Given the description of an element on the screen output the (x, y) to click on. 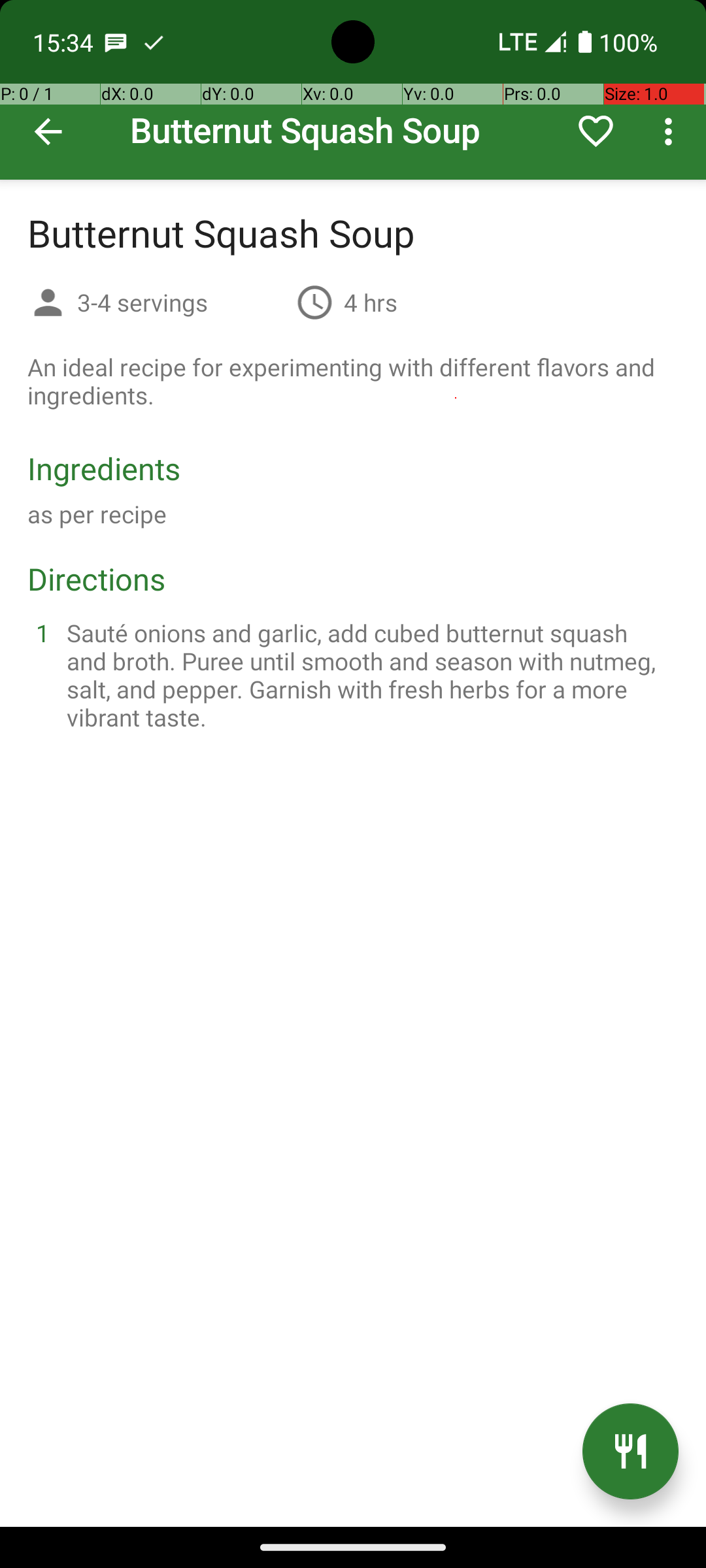
Sauté onions and garlic, add cubed butternut squash and broth. Puree until smooth and season with nutmeg, salt, and pepper. Garnish with fresh herbs for a more vibrant taste. Element type: android.widget.TextView (368, 674)
